Given the description of an element on the screen output the (x, y) to click on. 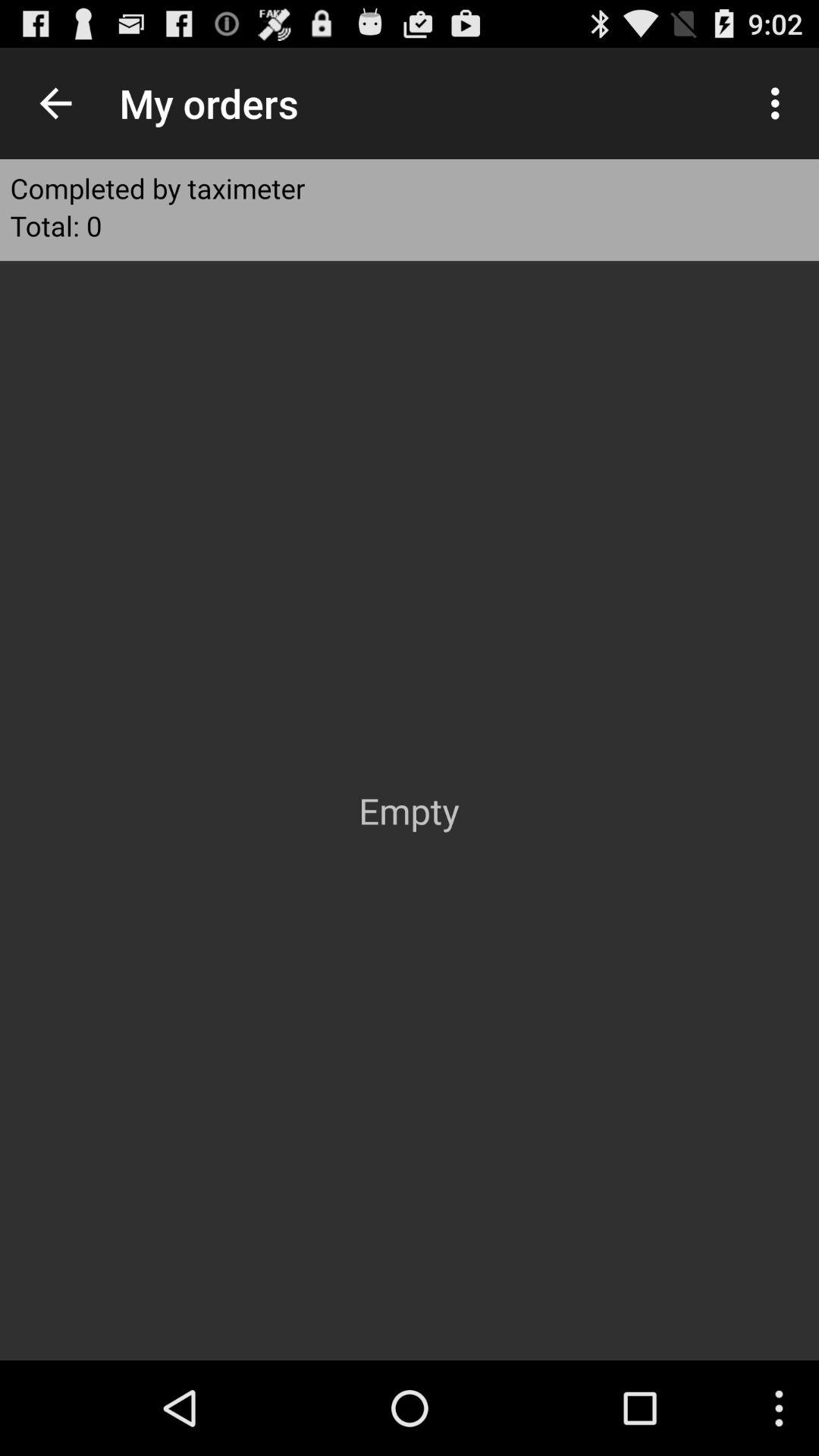
click the item next to the my orders item (779, 103)
